Given the description of an element on the screen output the (x, y) to click on. 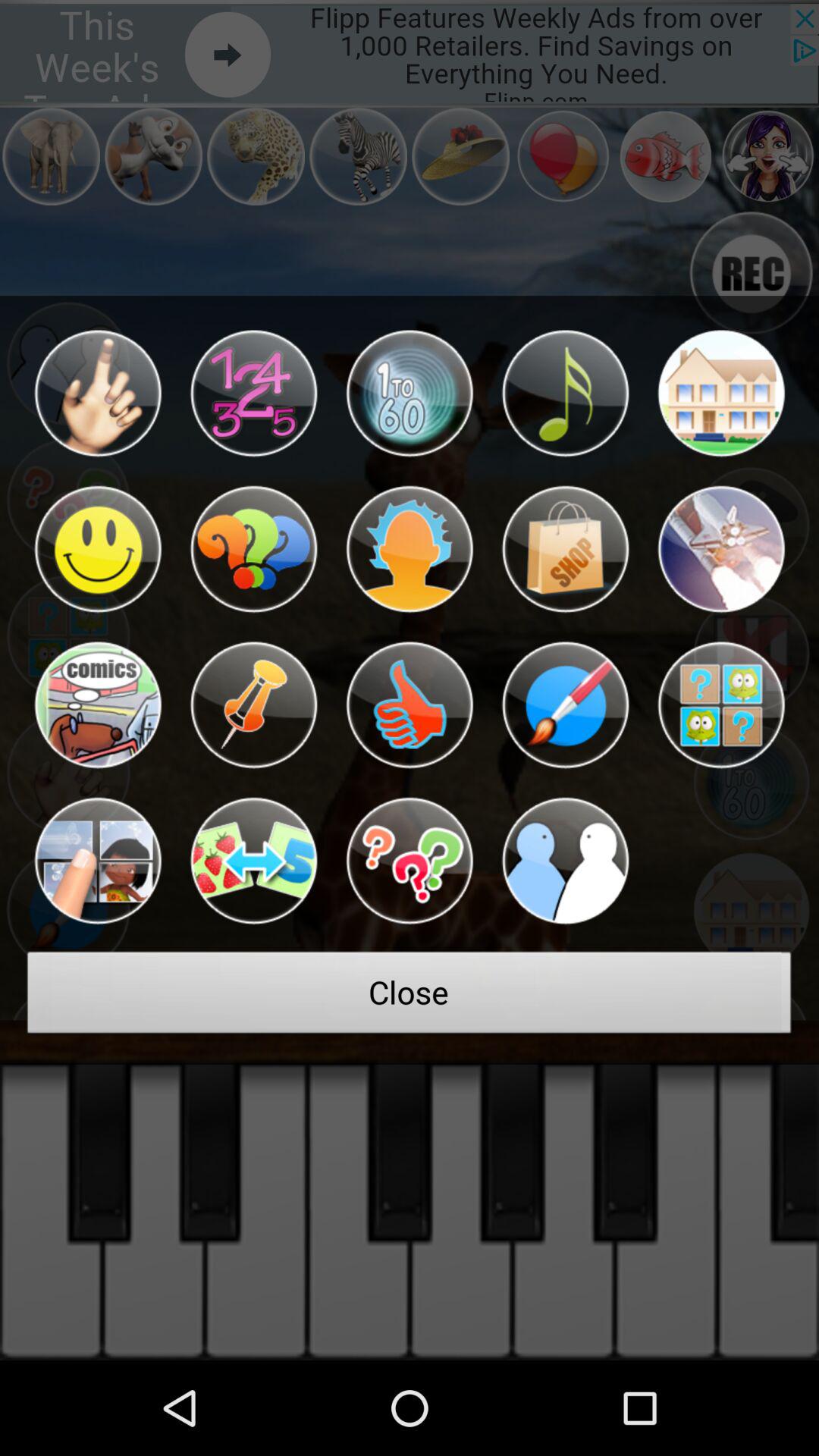
launch the close at the bottom (409, 996)
